Given the description of an element on the screen output the (x, y) to click on. 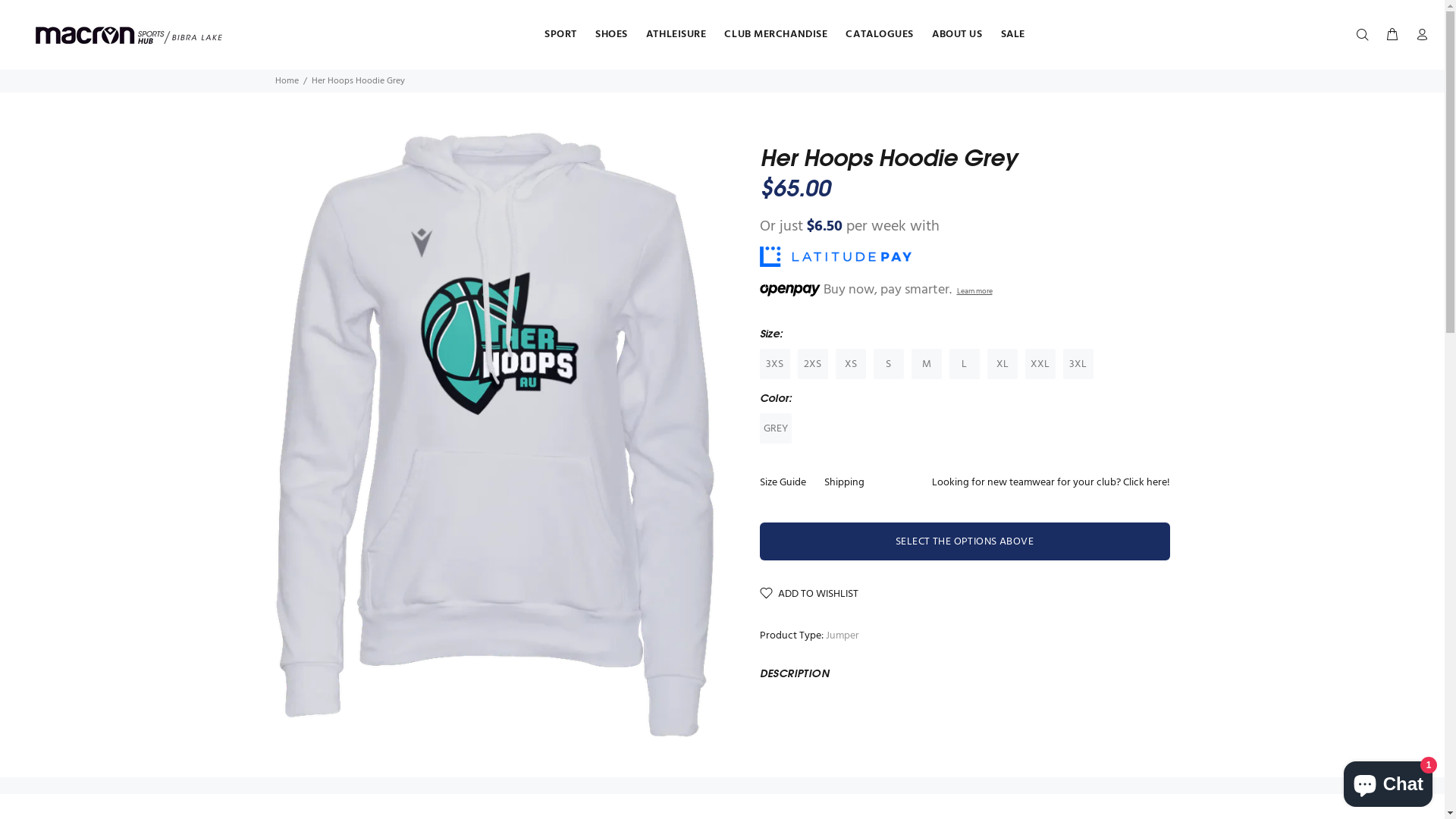
Learn more Element type: text (974, 290)
SELECT THE OPTIONS ABOVE Element type: text (964, 541)
SALE Element type: text (1008, 34)
GREY Element type: text (775, 428)
3XS Element type: text (774, 363)
L Element type: text (964, 363)
Shopify online store chat Element type: hover (1388, 780)
ATHLEISURE Element type: text (676, 34)
Size Guide Element type: text (787, 482)
Shipping Element type: text (843, 482)
ADD TO WISHLIST Element type: text (808, 593)
XS Element type: text (850, 363)
SPORT Element type: text (560, 34)
Looking for new teamwear for your club? Click here! Element type: text (1045, 482)
SHOES Element type: text (611, 34)
S Element type: text (888, 363)
M Element type: text (926, 363)
3XL Element type: text (1078, 363)
CATALOGUES Element type: text (879, 34)
Jumper Element type: text (841, 635)
ABOUT US Element type: text (956, 34)
Home Element type: text (286, 80)
XXL Element type: text (1040, 363)
2XS Element type: text (812, 363)
XL Element type: text (1002, 363)
CLUB MERCHANDISE Element type: text (775, 34)
